Given the description of an element on the screen output the (x, y) to click on. 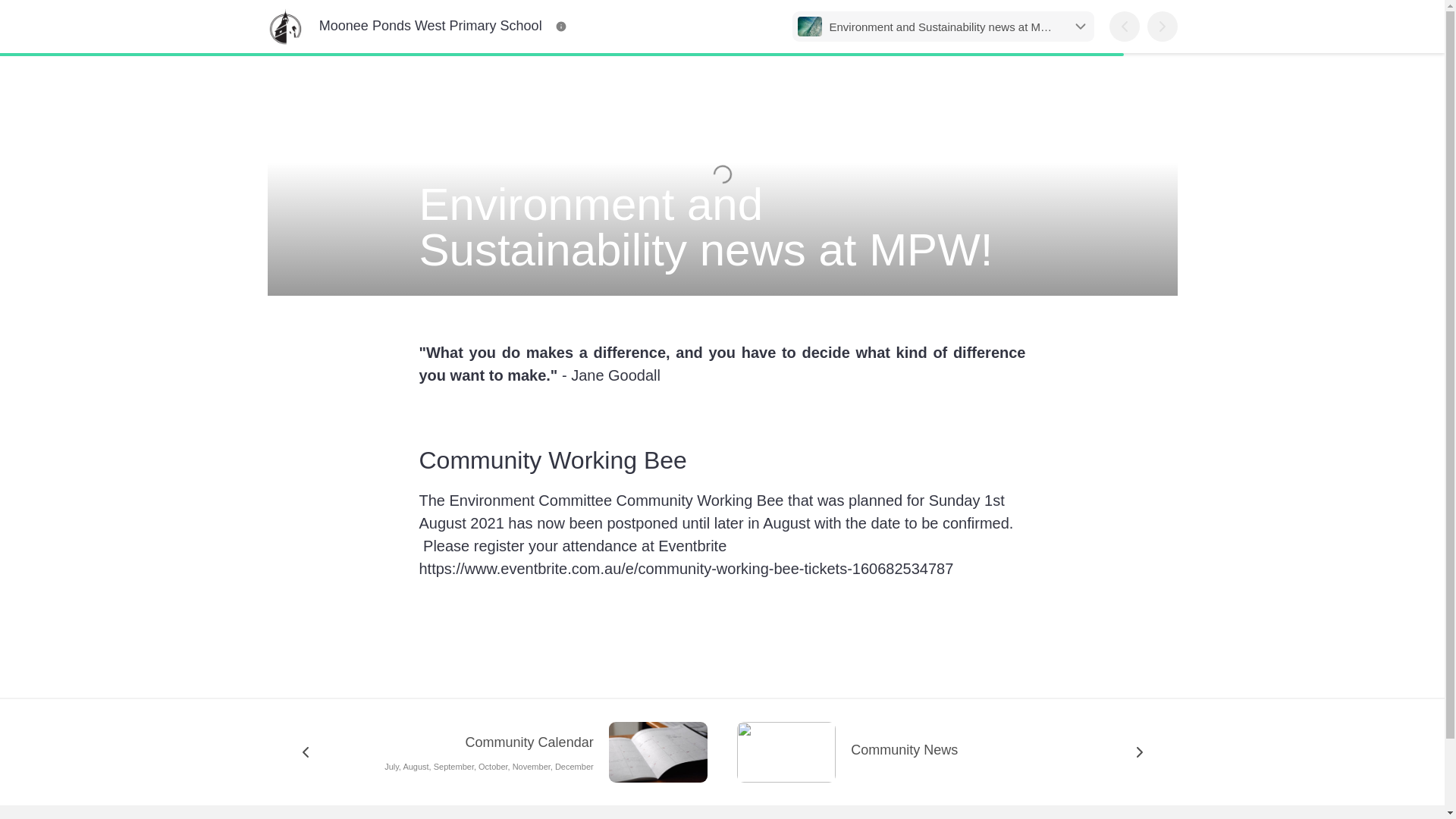
Community News (952, 752)
Environment and Sustainability news at MPW! (942, 26)
Moonee Ponds West Primary School (403, 26)
